Given the description of an element on the screen output the (x, y) to click on. 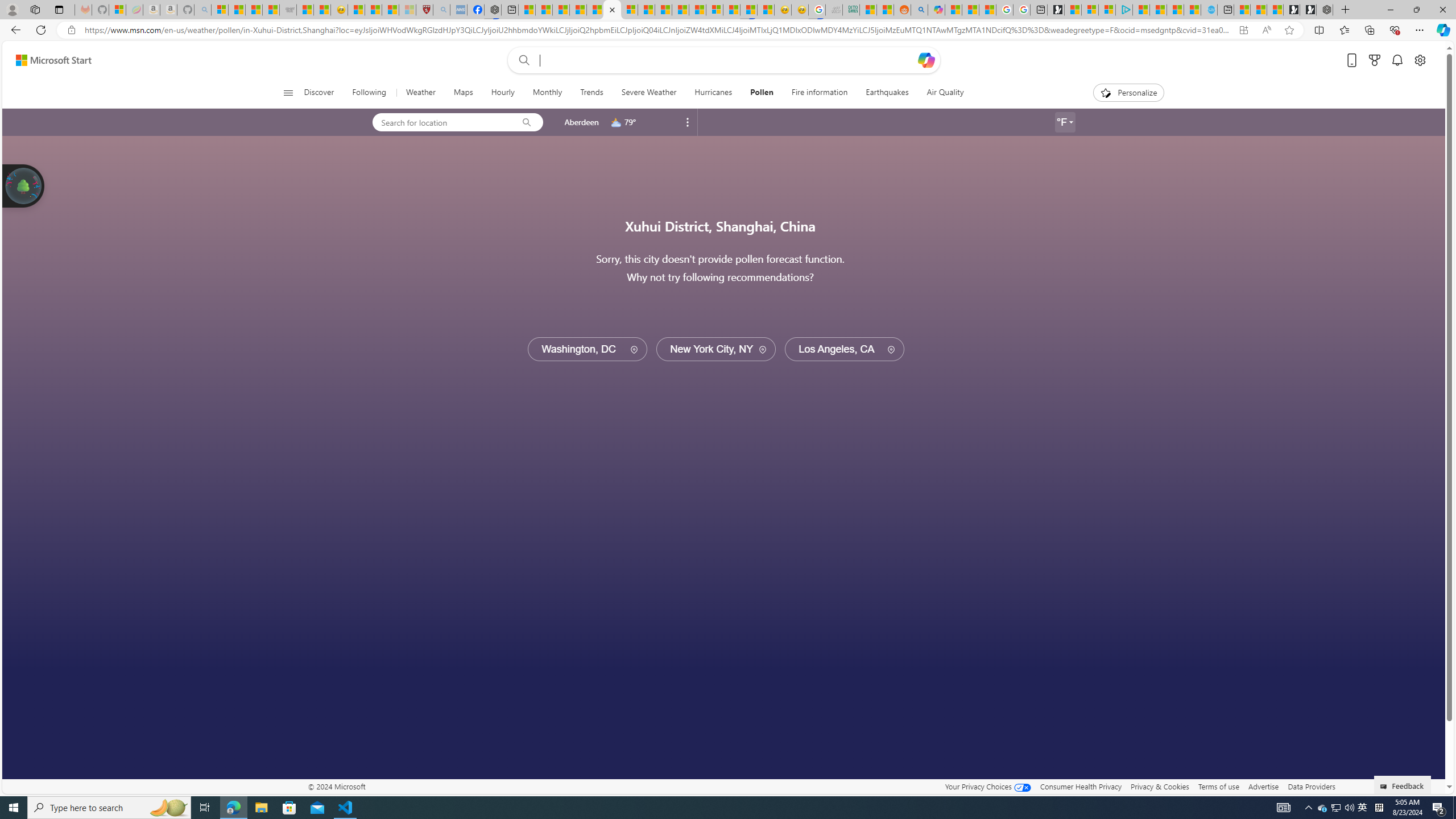
Severe Weather (649, 92)
Severe Weather (648, 92)
App available. Install Microsoft Start Weather (1243, 29)
Earthquakes (887, 92)
New York City, NY (715, 349)
